Given the description of an element on the screen output the (x, y) to click on. 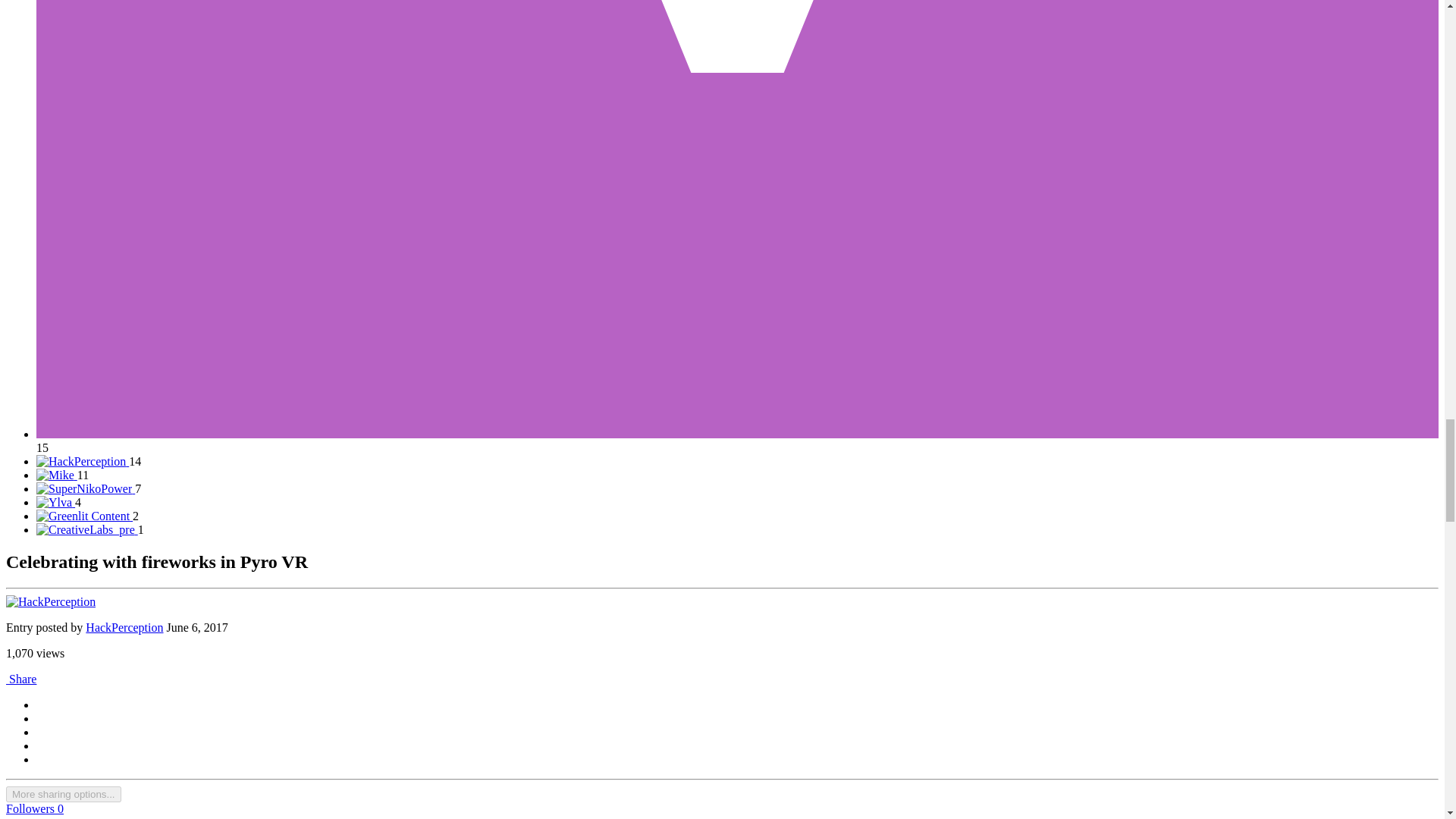
Go to Ylva's profile (55, 502)
Greenlit Content (87, 515)
Go to SuperNikoPower's profile (85, 488)
Mike (62, 474)
HackPerception (88, 461)
Go to HackPerception's profile (82, 461)
Ylva (58, 502)
Go to Mike's profile (56, 474)
Go to Greenlit Content's profile (84, 515)
SuperNikoPower (88, 488)
